Given the description of an element on the screen output the (x, y) to click on. 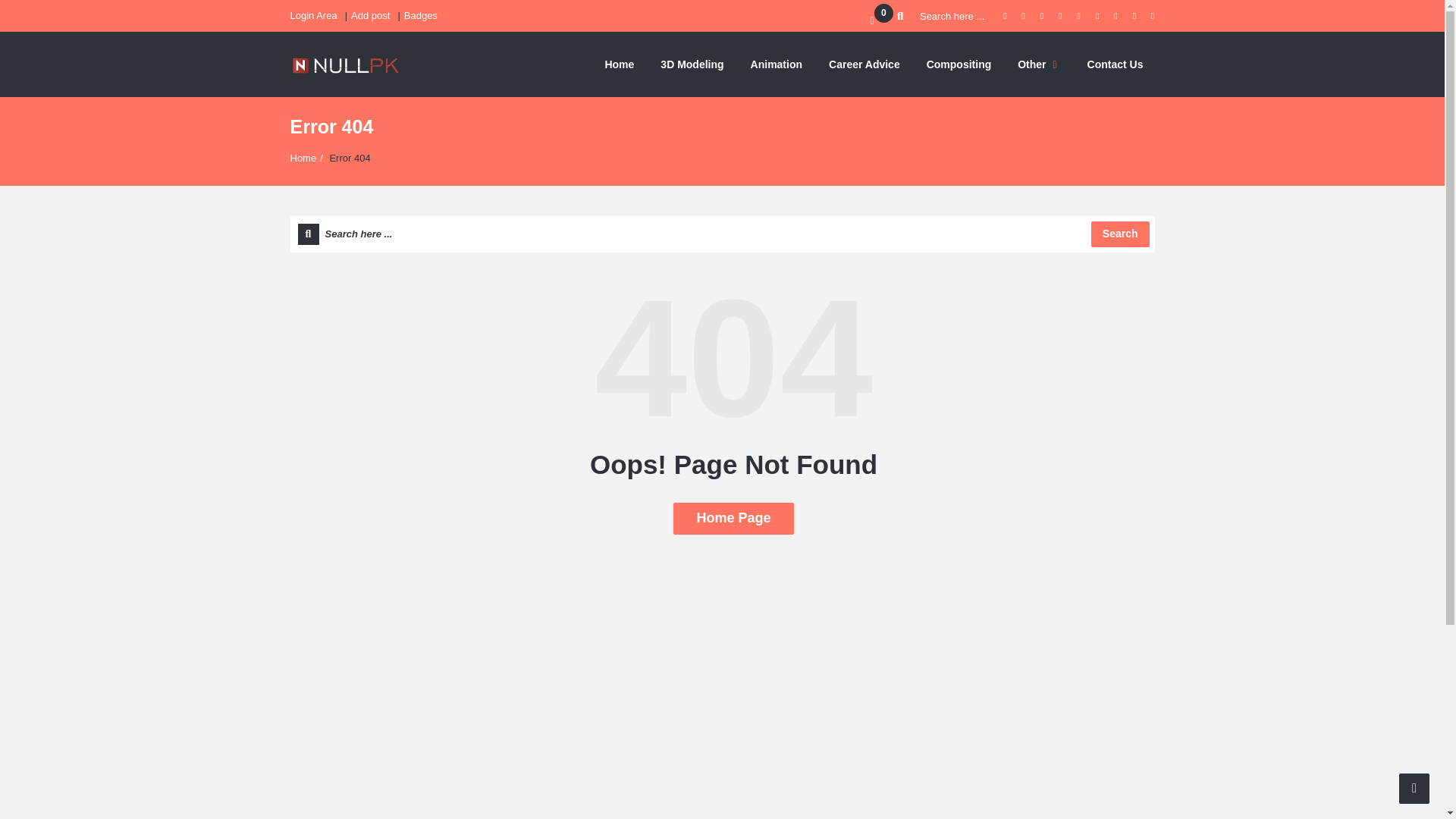
Ask a question (1414, 788)
Search here ... (942, 15)
Search here ... (942, 15)
Search here ... (721, 234)
Search here ... (721, 234)
Nullpk (344, 64)
